Given the description of an element on the screen output the (x, y) to click on. 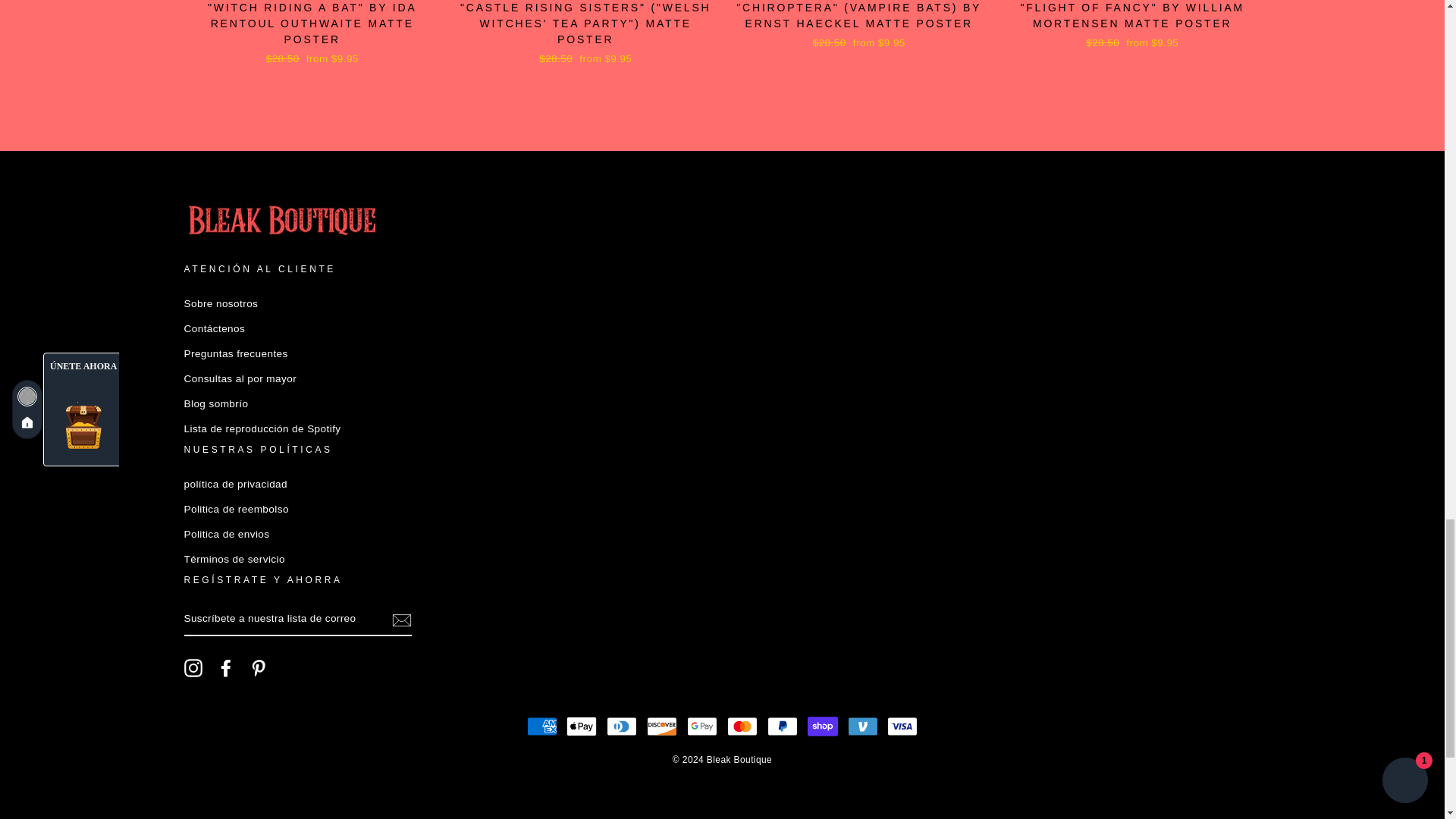
Venmo (862, 726)
Shop Pay (823, 726)
American Express (542, 726)
Bleak Boutique en Instagram (192, 668)
Google Pay (702, 726)
Bleak Boutique en Pinterest (257, 668)
Discover (661, 726)
Apple Pay (581, 726)
Bleak Boutique en Facebook (225, 668)
Diners Club (622, 726)
Mastercard (741, 726)
PayPal (782, 726)
